Given the description of an element on the screen output the (x, y) to click on. 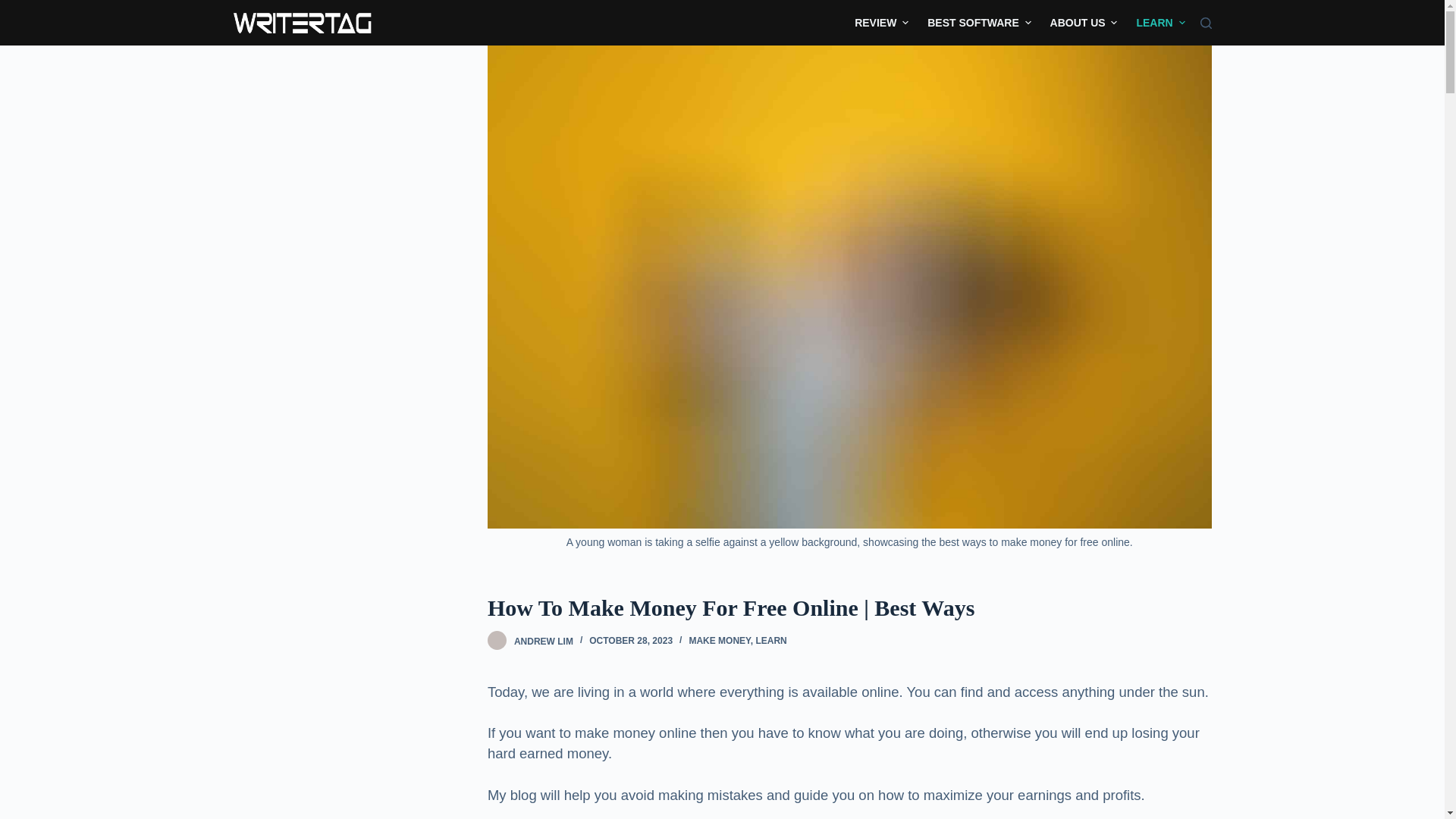
Skip to content (15, 7)
REVIEW (886, 22)
Posts by Andrew Lim (543, 640)
BEST SOFTWARE (979, 22)
LEARN (1155, 22)
ABOUT US (1083, 22)
